Given the description of an element on the screen output the (x, y) to click on. 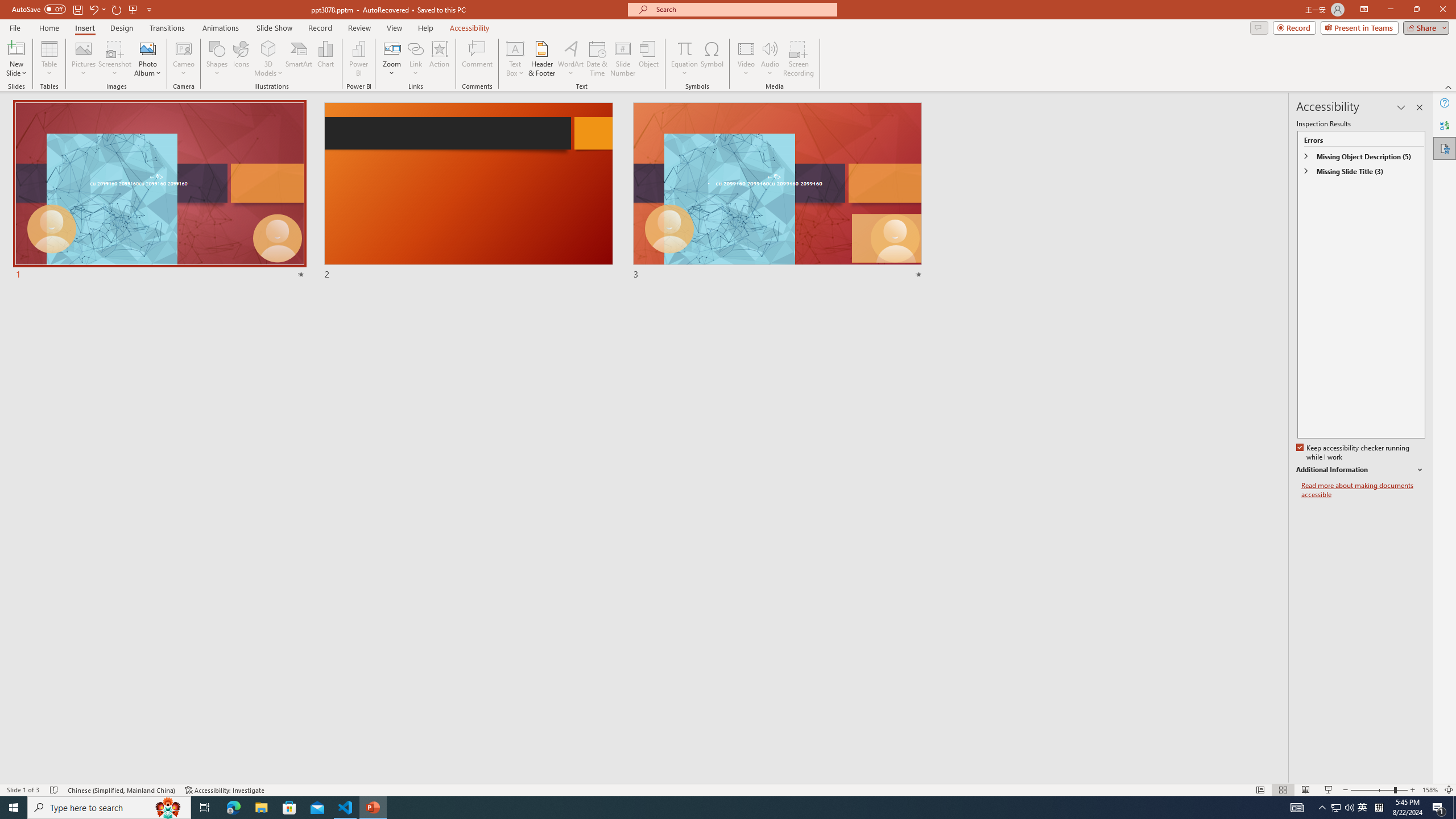
Table (49, 58)
Link (415, 58)
